Given the description of an element on the screen output the (x, y) to click on. 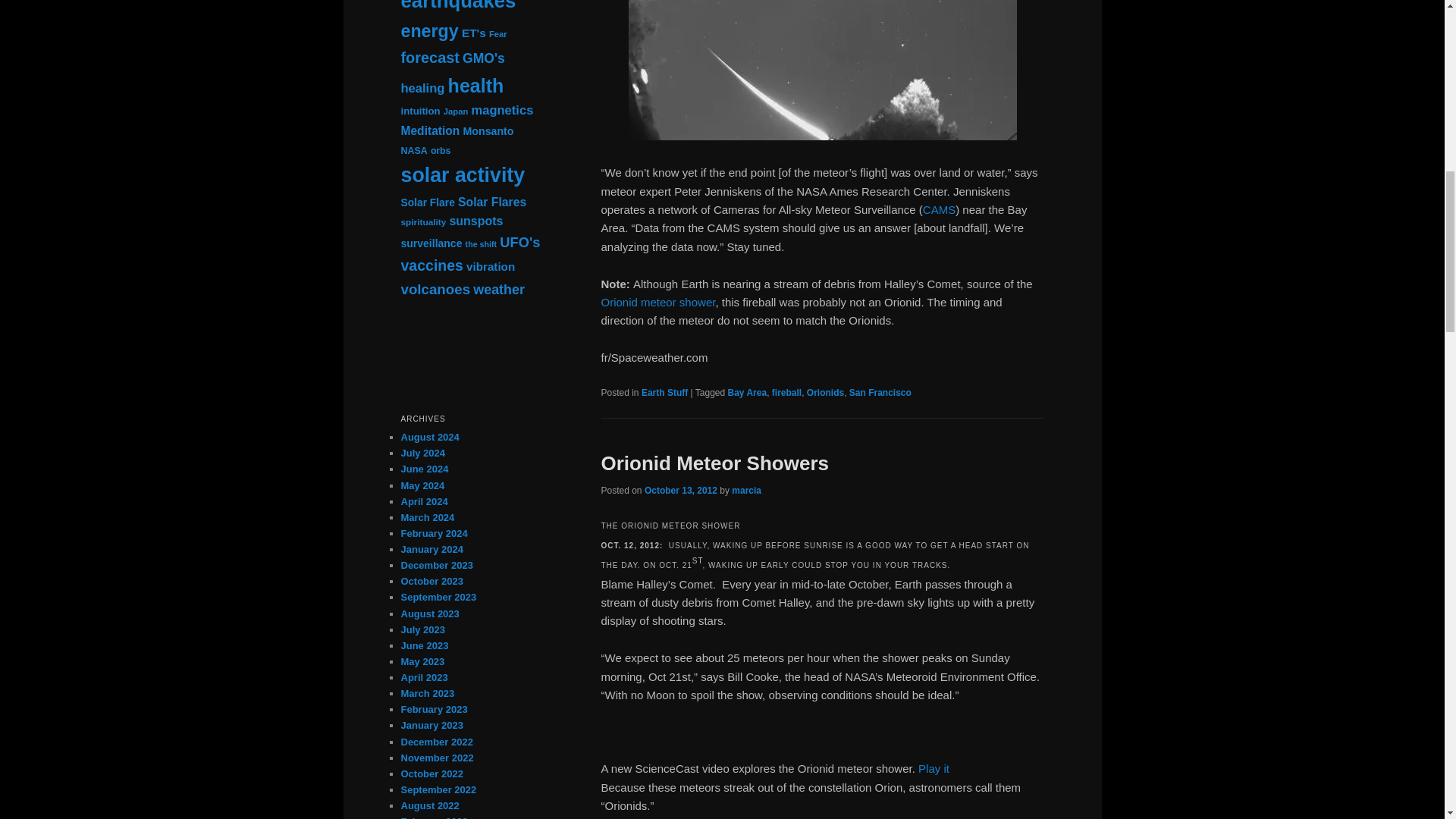
View all posts by marcia (746, 490)
Orionid meteor shower (656, 301)
marcia (746, 490)
Follow Chromographics Institute on Twitter (471, 339)
fireball (786, 392)
San Francisco (879, 392)
October 13, 2012 (681, 490)
8:24 pm (681, 490)
Earth Stuff (664, 392)
Play it (933, 768)
Bay Area (747, 392)
Orionids (825, 392)
CAMS (939, 209)
Orionid Meteor Showers (713, 463)
